Given the description of an element on the screen output the (x, y) to click on. 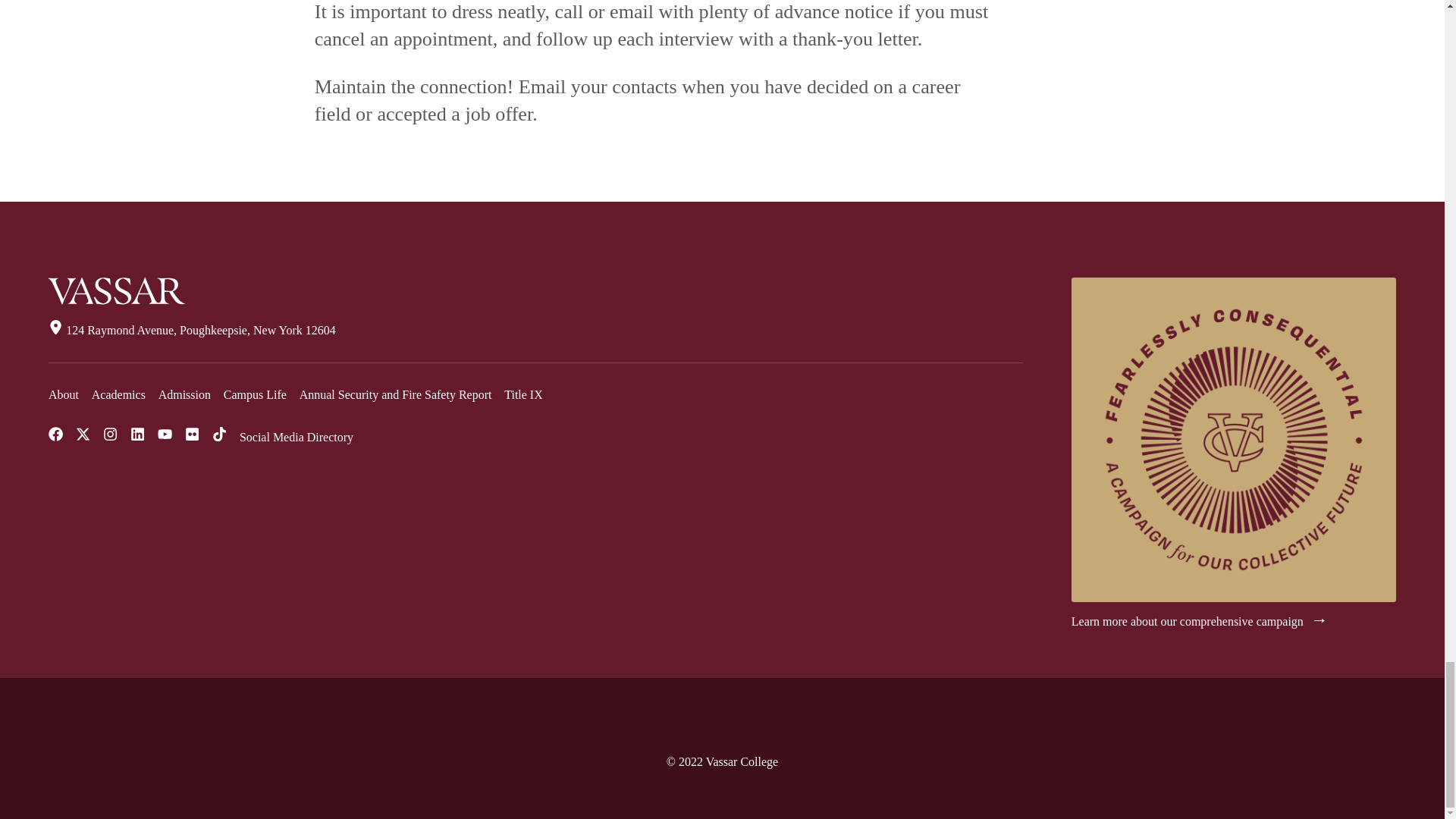
Vassar (116, 290)
